Given the description of an element on the screen output the (x, y) to click on. 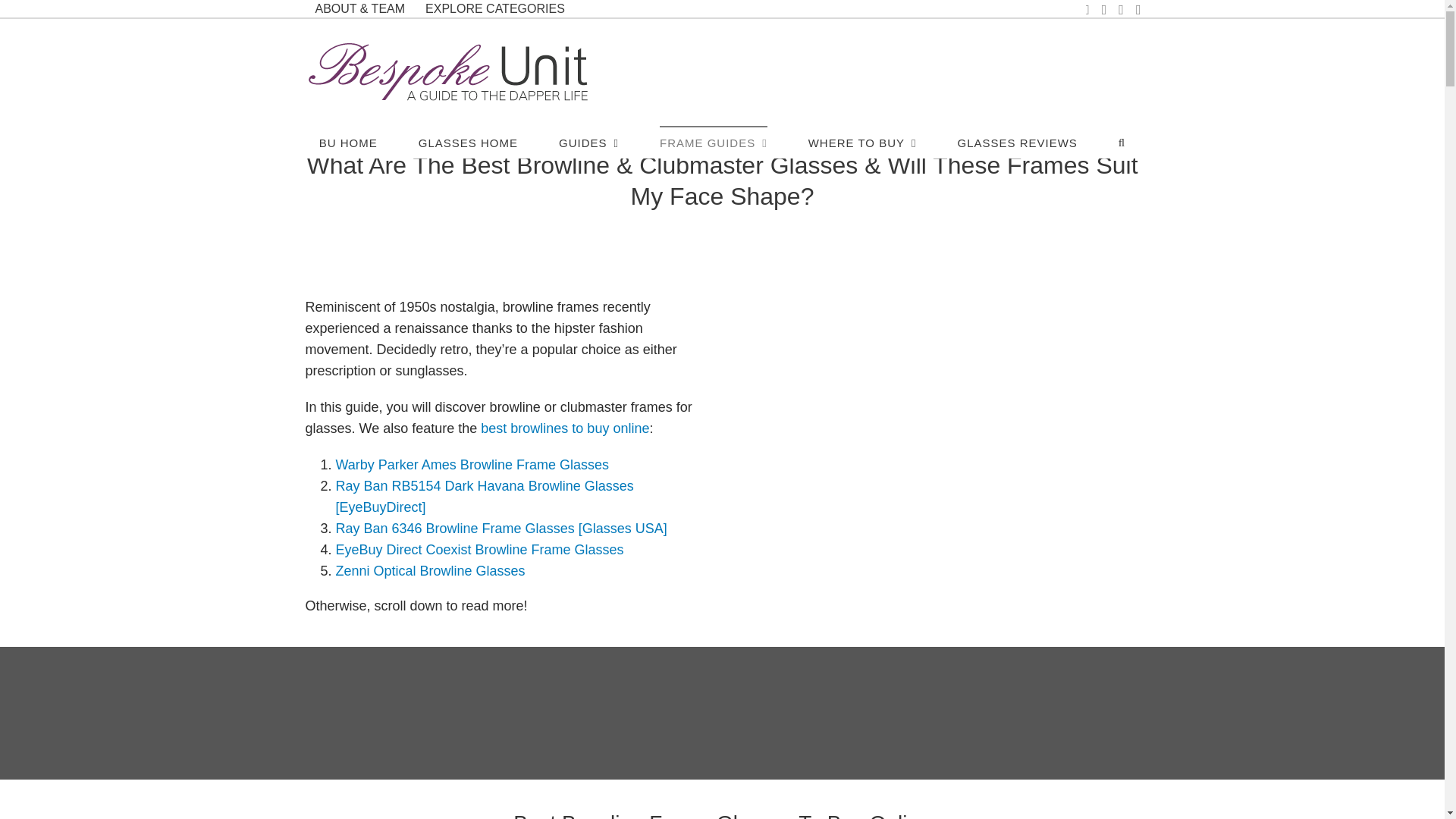
EXPLORE CATEGORIES (494, 8)
Browline glasses frames (938, 429)
GLASSES HOME (468, 142)
GLASSES REVIEWS (1016, 142)
BU HOME (347, 142)
WHERE TO BUY (862, 142)
FRAME GUIDES (713, 142)
GUIDES (588, 142)
